Given the description of an element on the screen output the (x, y) to click on. 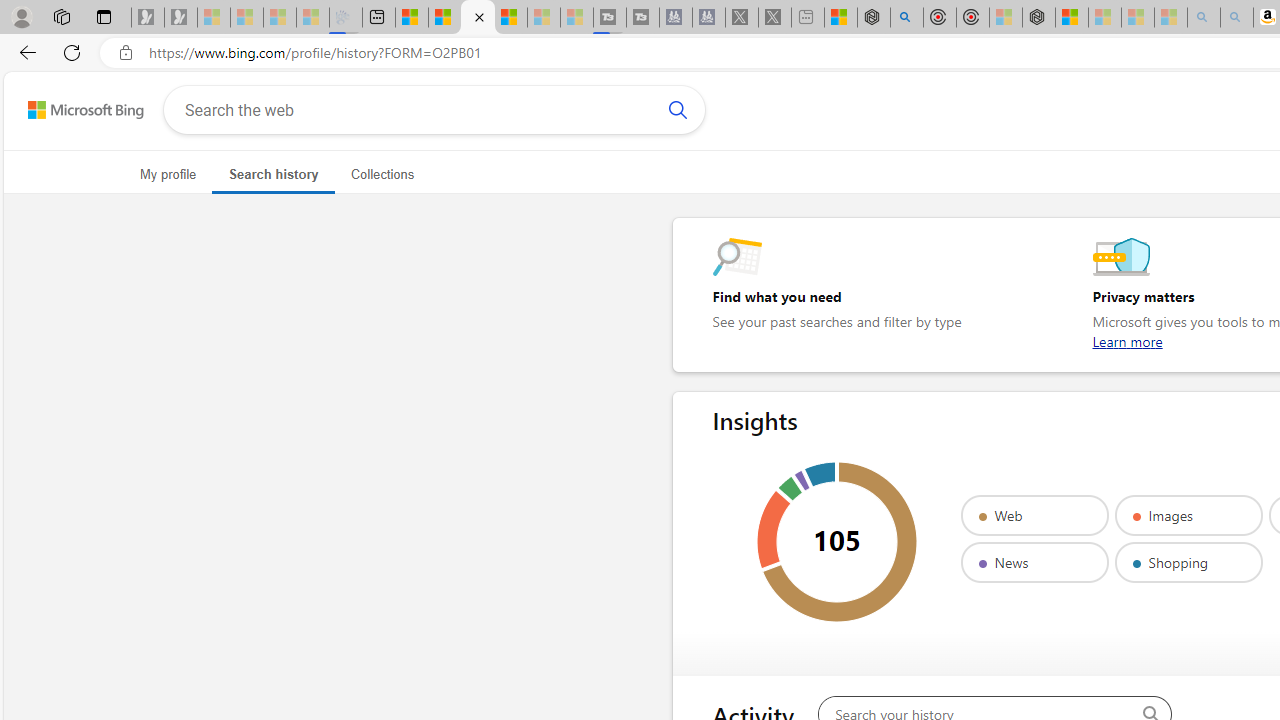
X - Sleeping (775, 17)
Back to Bing search (73, 105)
Class: el_arc partner-web (839, 542)
Class: el_arc partner-images (773, 529)
Search history (272, 174)
New tab - Sleeping (808, 17)
News (1034, 562)
amazon - Search - Sleeping (1203, 17)
